Given the description of an element on the screen output the (x, y) to click on. 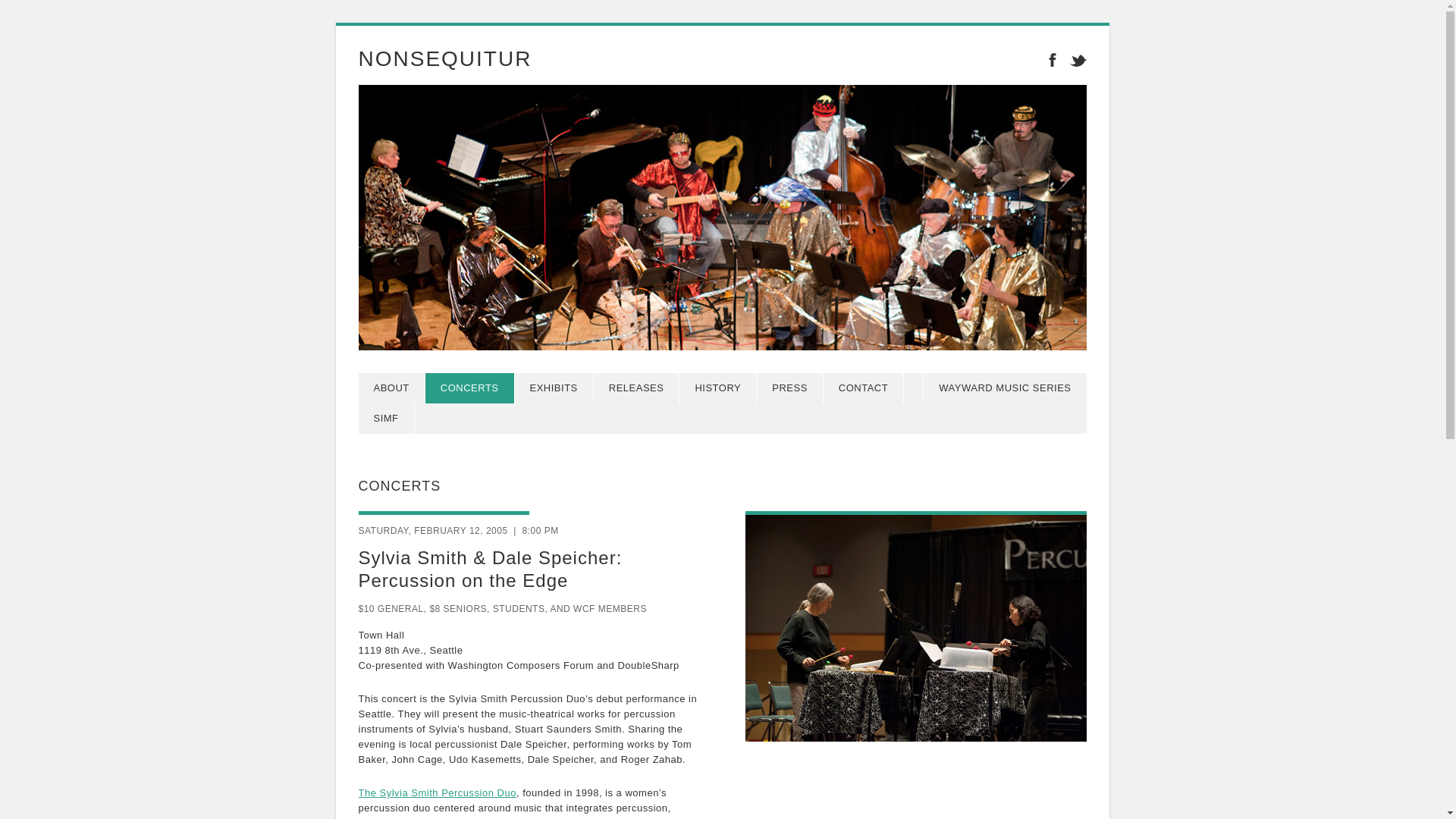
HISTORY (718, 388)
SIMF (385, 418)
PRESS (790, 388)
EXHIBITS (554, 388)
ABOUT (391, 388)
WAYWARD MUSIC SERIES (1004, 388)
The Sylvia Smith Percussion Duo (436, 792)
Facebook (1051, 58)
Twitter (1074, 58)
CONTACT (864, 388)
Nonsequitur (444, 58)
RELEASES (636, 388)
CONCERTS (470, 388)
NONSEQUITUR (444, 58)
